Given the description of an element on the screen output the (x, y) to click on. 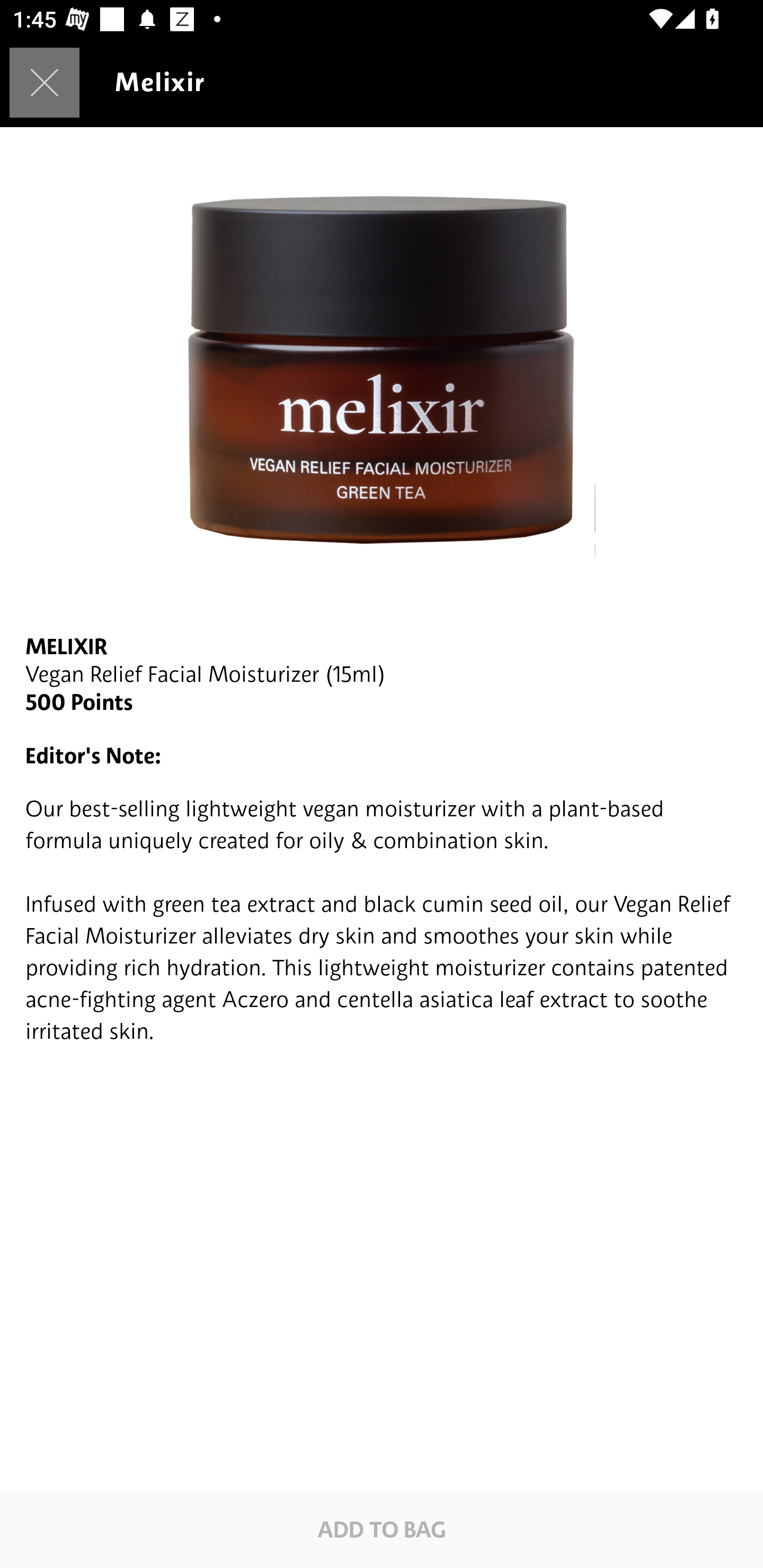
ADD TO BAG (381, 1529)
